Given the description of an element on the screen output the (x, y) to click on. 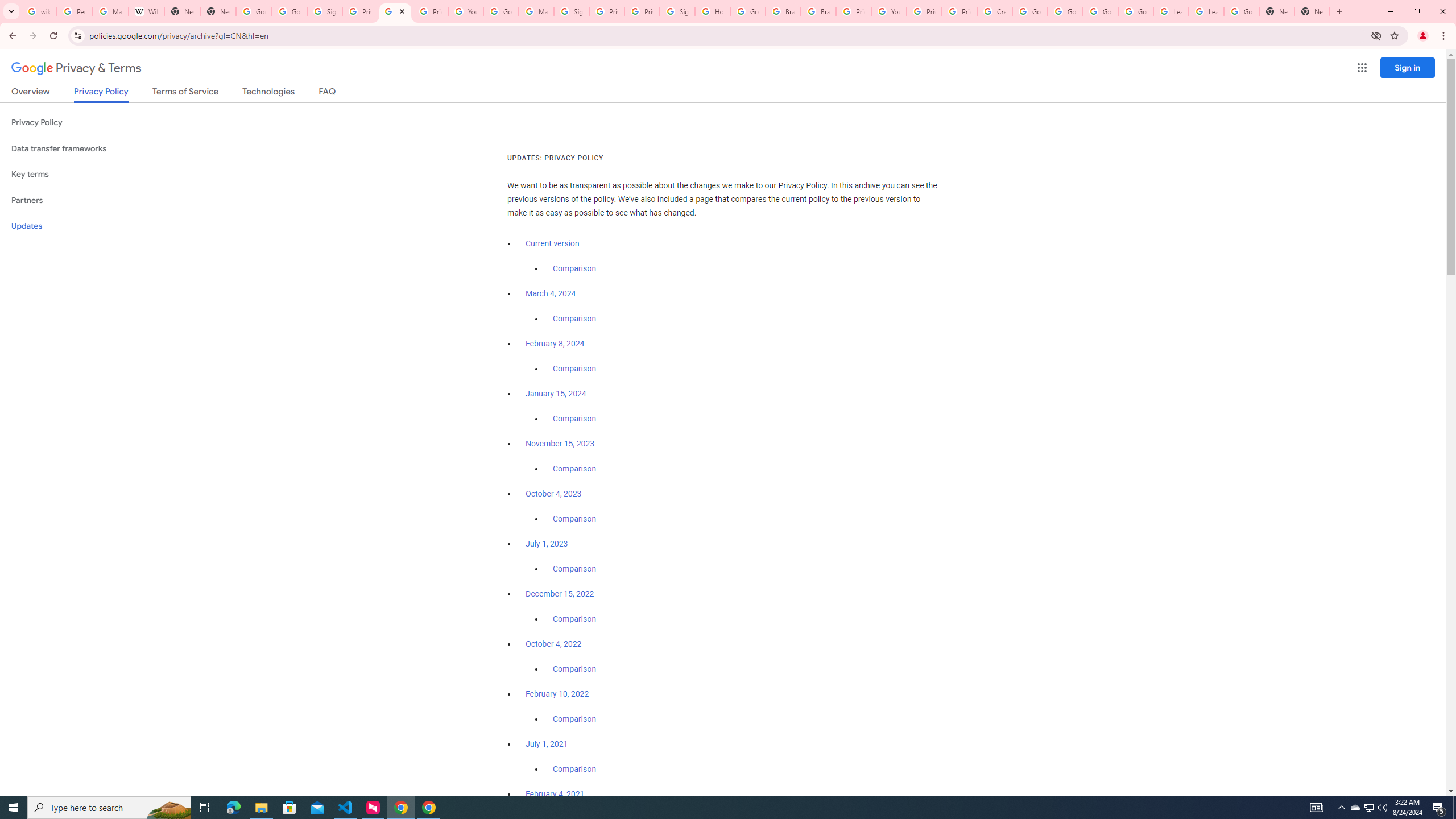
YouTube (888, 11)
Sign in - Google Accounts (324, 11)
Personalization & Google Search results - Google Search Help (74, 11)
